Given the description of an element on the screen output the (x, y) to click on. 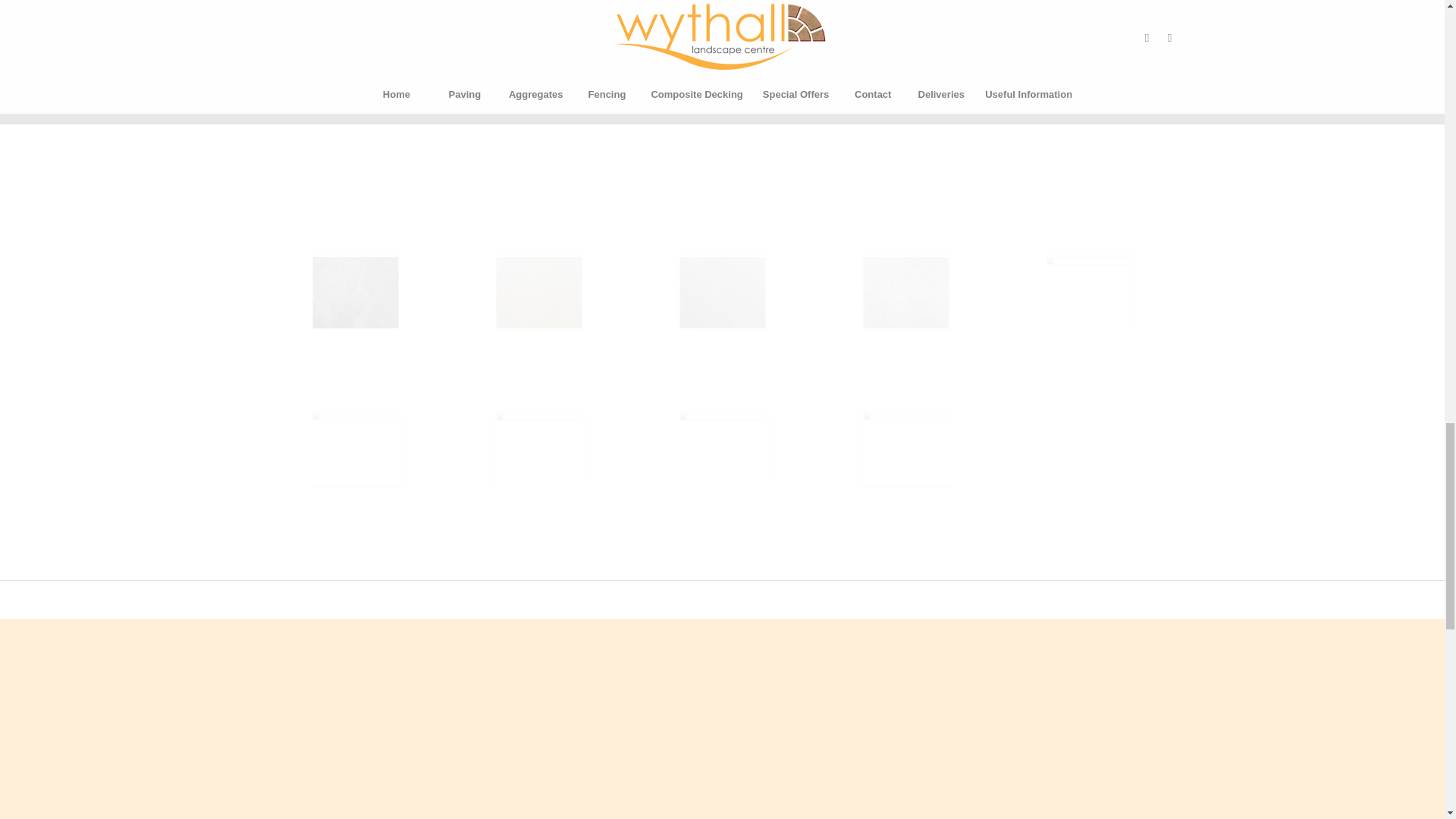
landscape beige (585, 330)
Landscape Beige (538, 292)
Landscape Anthracite (354, 292)
landscape anthracite (400, 330)
